Given the description of an element on the screen output the (x, y) to click on. 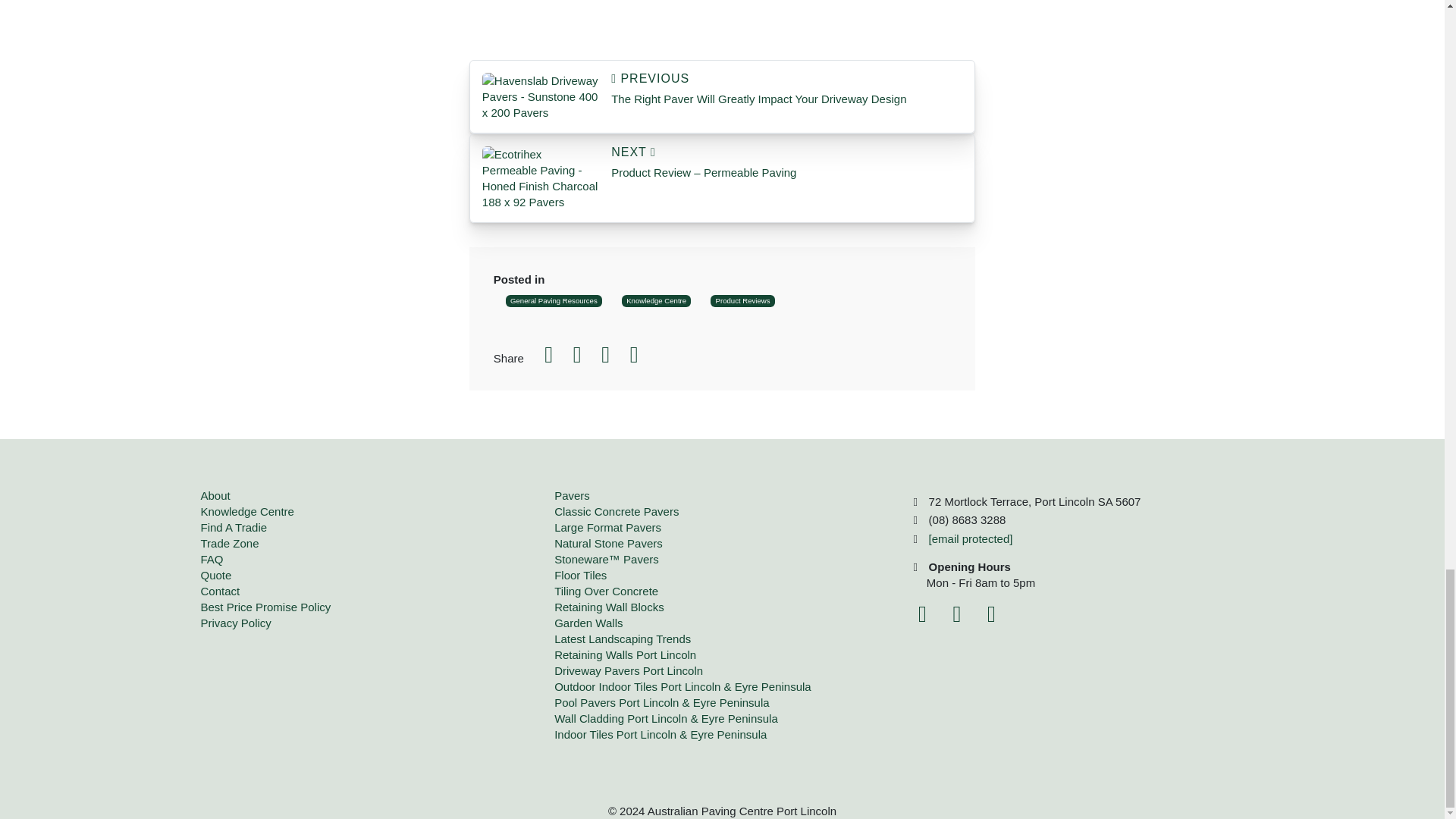
The Right Paver Will Greatly Impact Your Driveway Design (786, 88)
The Right Paver Will Greatly Impact Your Driveway Design (539, 95)
